Given the description of an element on the screen output the (x, y) to click on. 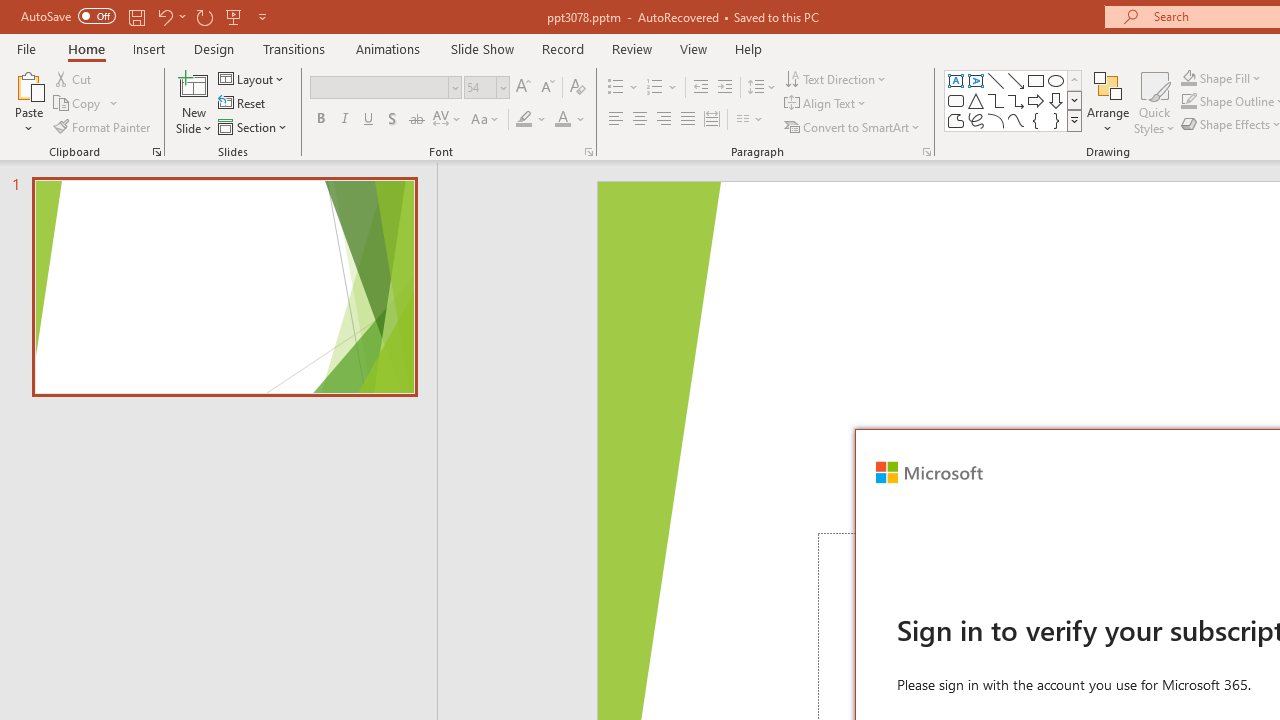
Freeform: Scribble (975, 120)
Shadow (392, 119)
Layout (252, 78)
Align Right (663, 119)
Rectangle: Rounded Corners (955, 100)
Convert to SmartArt (853, 126)
Curve (1016, 120)
